Given the description of an element on the screen output the (x, y) to click on. 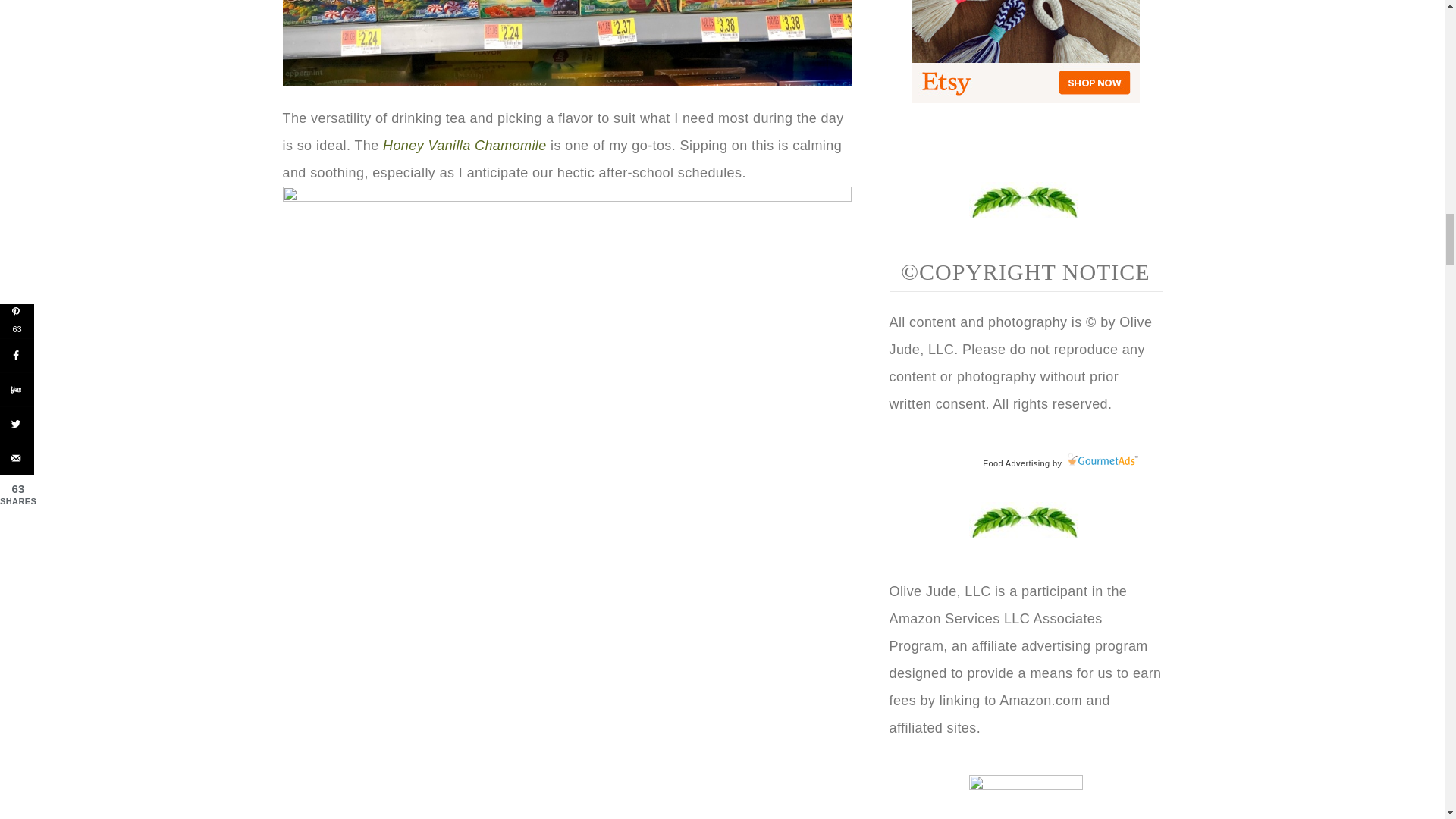
Food Advertising (1015, 462)
